Given the description of an element on the screen output the (x, y) to click on. 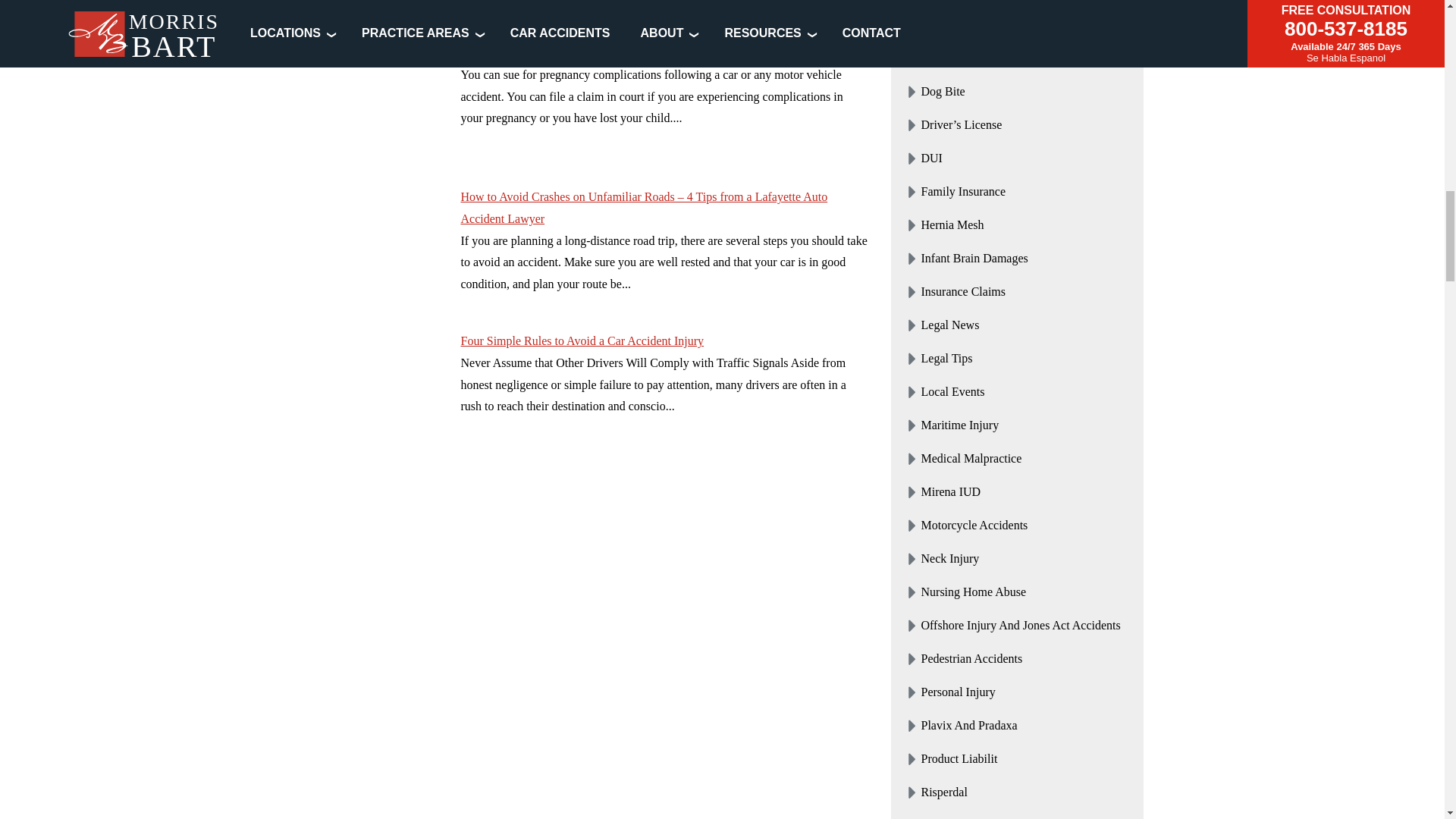
Four Simple Rules to Avoid a Car Accident Injury (373, 387)
